Given the description of an element on the screen output the (x, y) to click on. 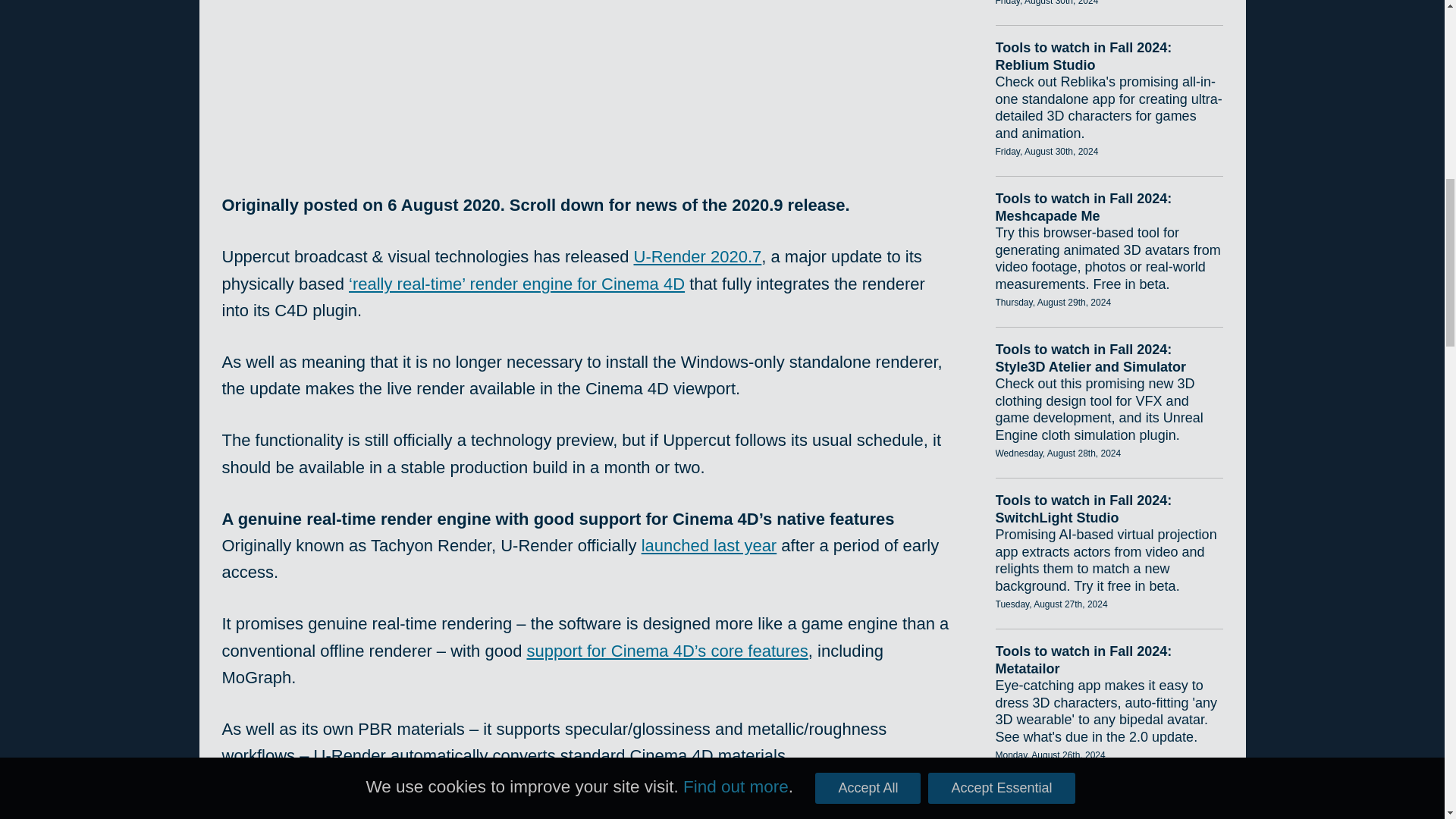
U-Render 2020.7 (697, 256)
subsurface scattering (755, 806)
volumetrics (596, 806)
launched last year (709, 545)
Sneakpeek U-Render full integration for C4D (585, 70)
